Given the description of an element on the screen output the (x, y) to click on. 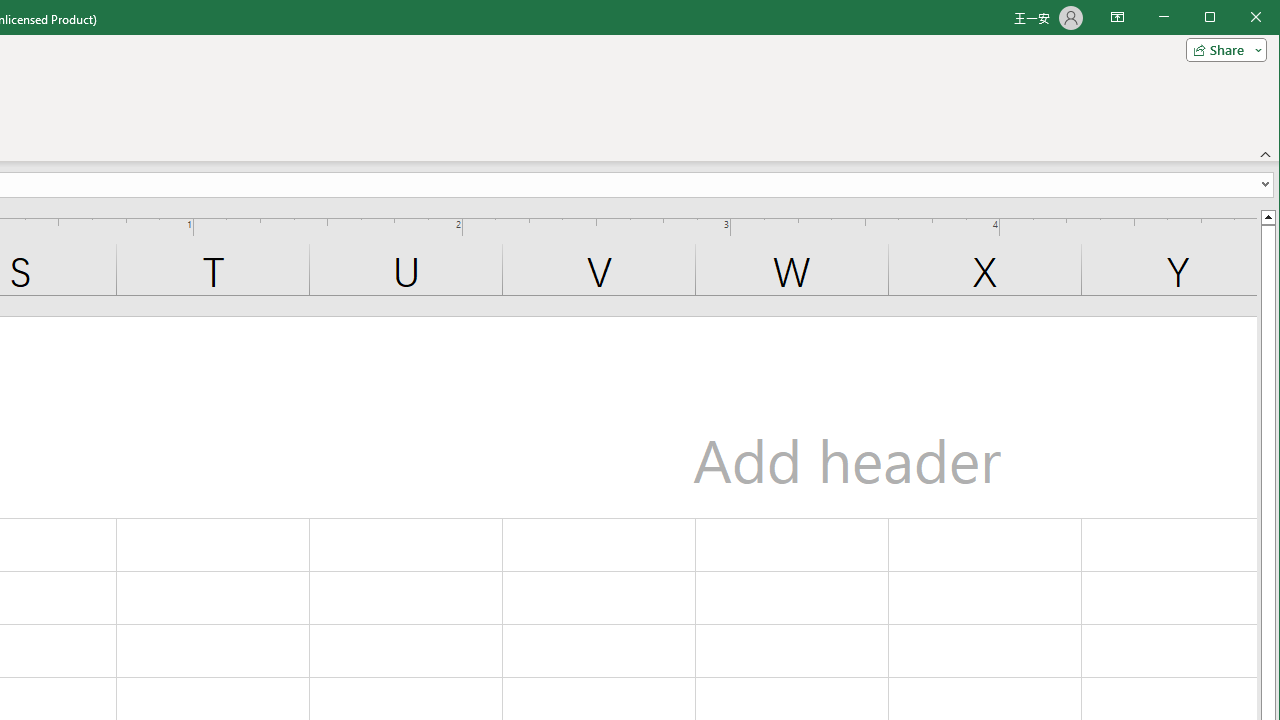
Share (1222, 49)
Ribbon Display Options (1117, 17)
Minimize (1216, 18)
Collapse the Ribbon (1266, 154)
Line up (1268, 216)
Maximize (1238, 18)
